Given the description of an element on the screen output the (x, y) to click on. 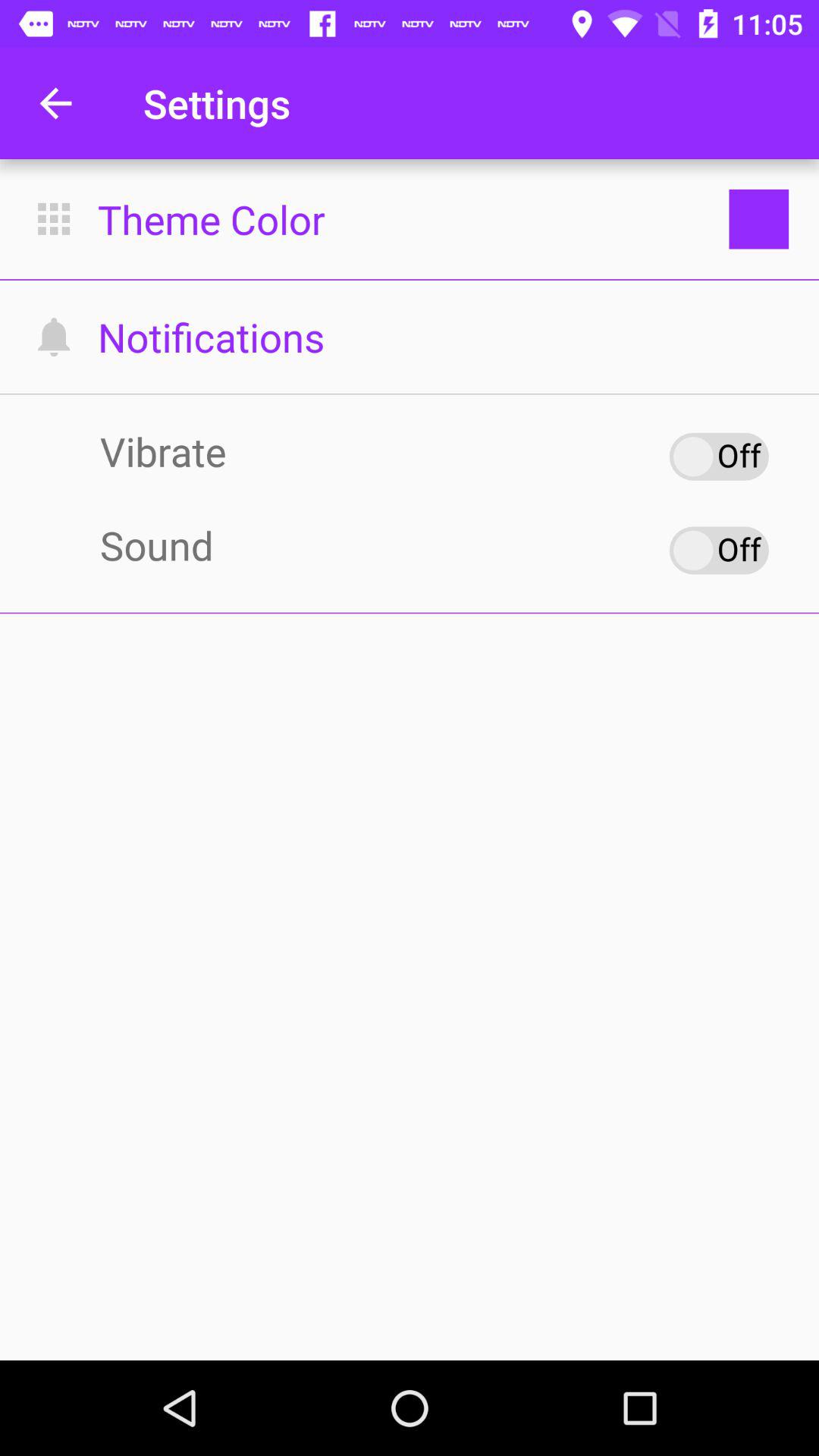
turn off the item to the left of the settings item (55, 103)
